Given the description of an element on the screen output the (x, y) to click on. 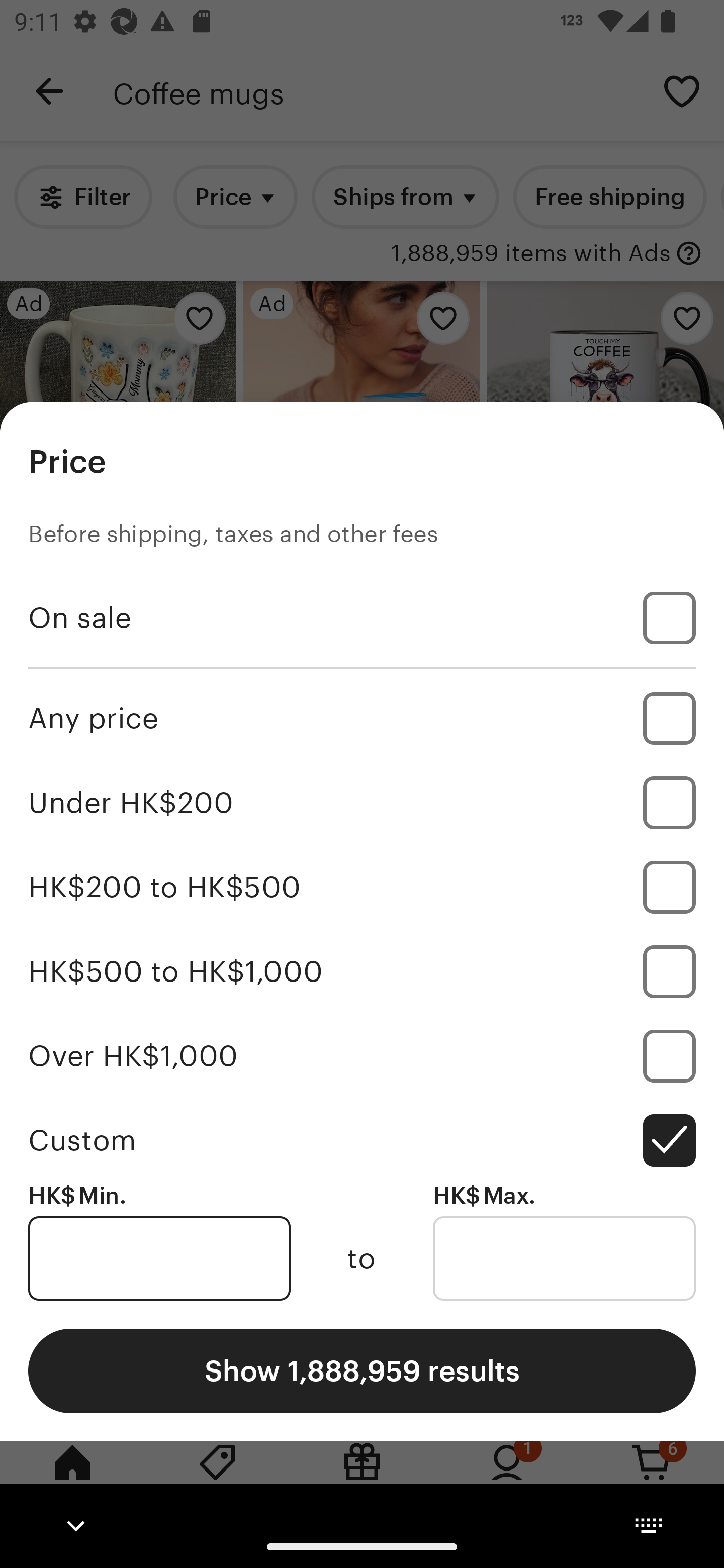
On sale (362, 617)
Any price (362, 717)
Under HK$200 (362, 802)
HK$200 to HK$500 (362, 887)
HK$500 to HK$1,000 (362, 970)
Over HK$1,000 (362, 1054)
Custom (362, 1139)
Show 1,888,959 results (361, 1370)
